Given the description of an element on the screen output the (x, y) to click on. 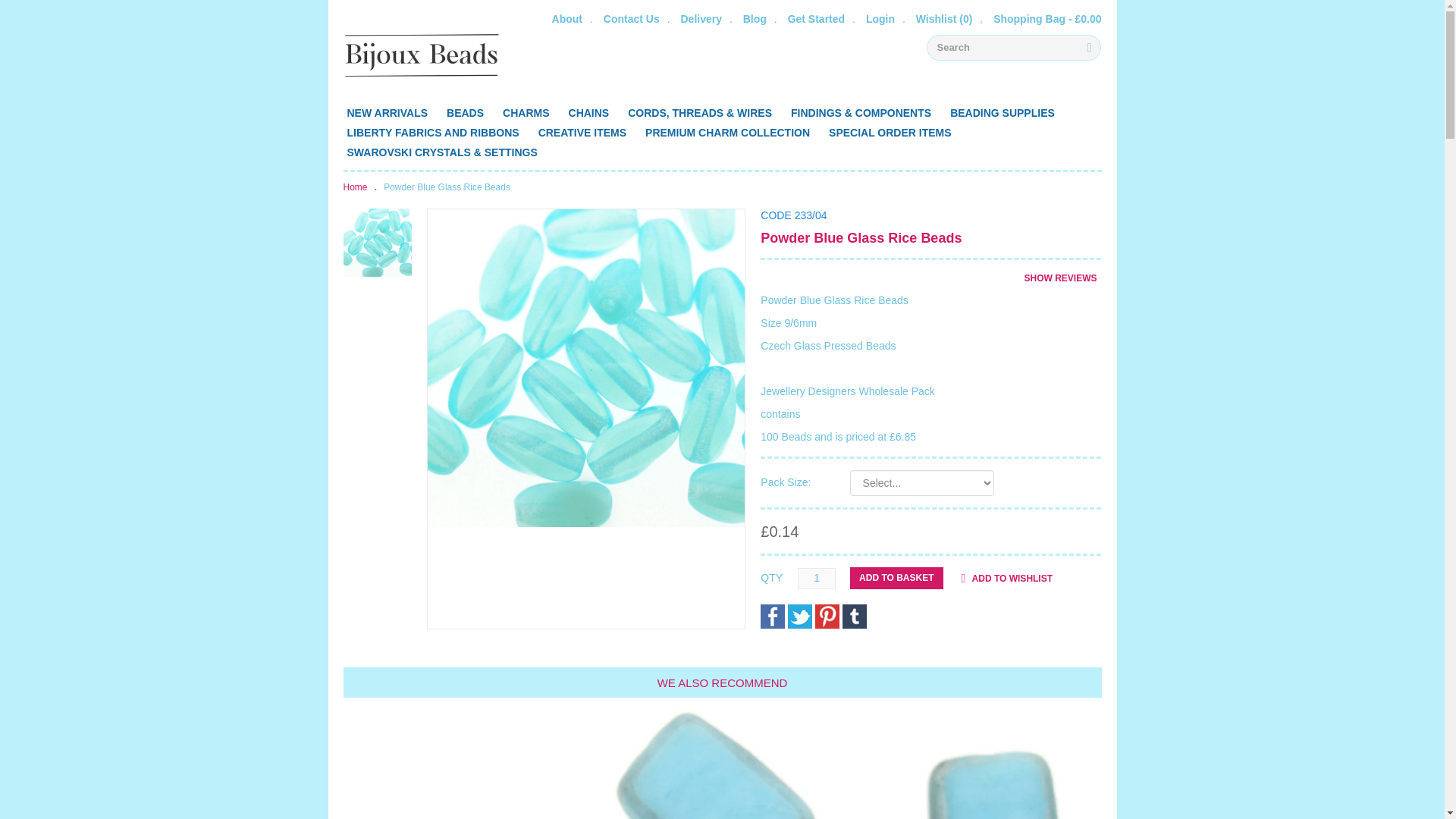
Get Started (815, 18)
CHARMS (526, 112)
Contact Us (631, 18)
Delivery (699, 18)
Login (880, 18)
About (566, 18)
BEADS (464, 112)
Blog (754, 18)
NEW ARRIVALS (386, 112)
1 (816, 578)
